Given the description of an element on the screen output the (x, y) to click on. 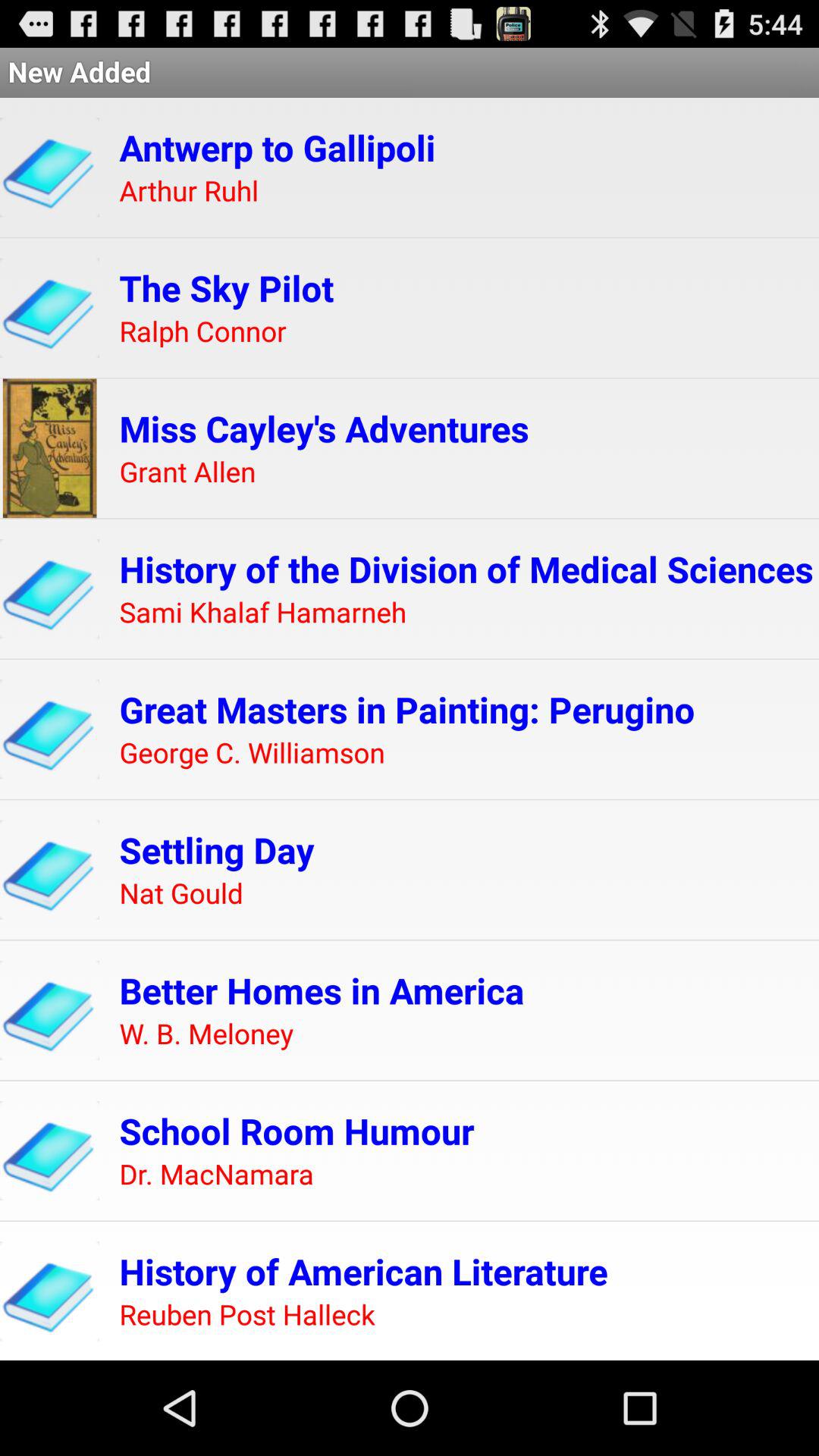
launch icon below the history of the (262, 613)
